Given the description of an element on the screen output the (x, y) to click on. 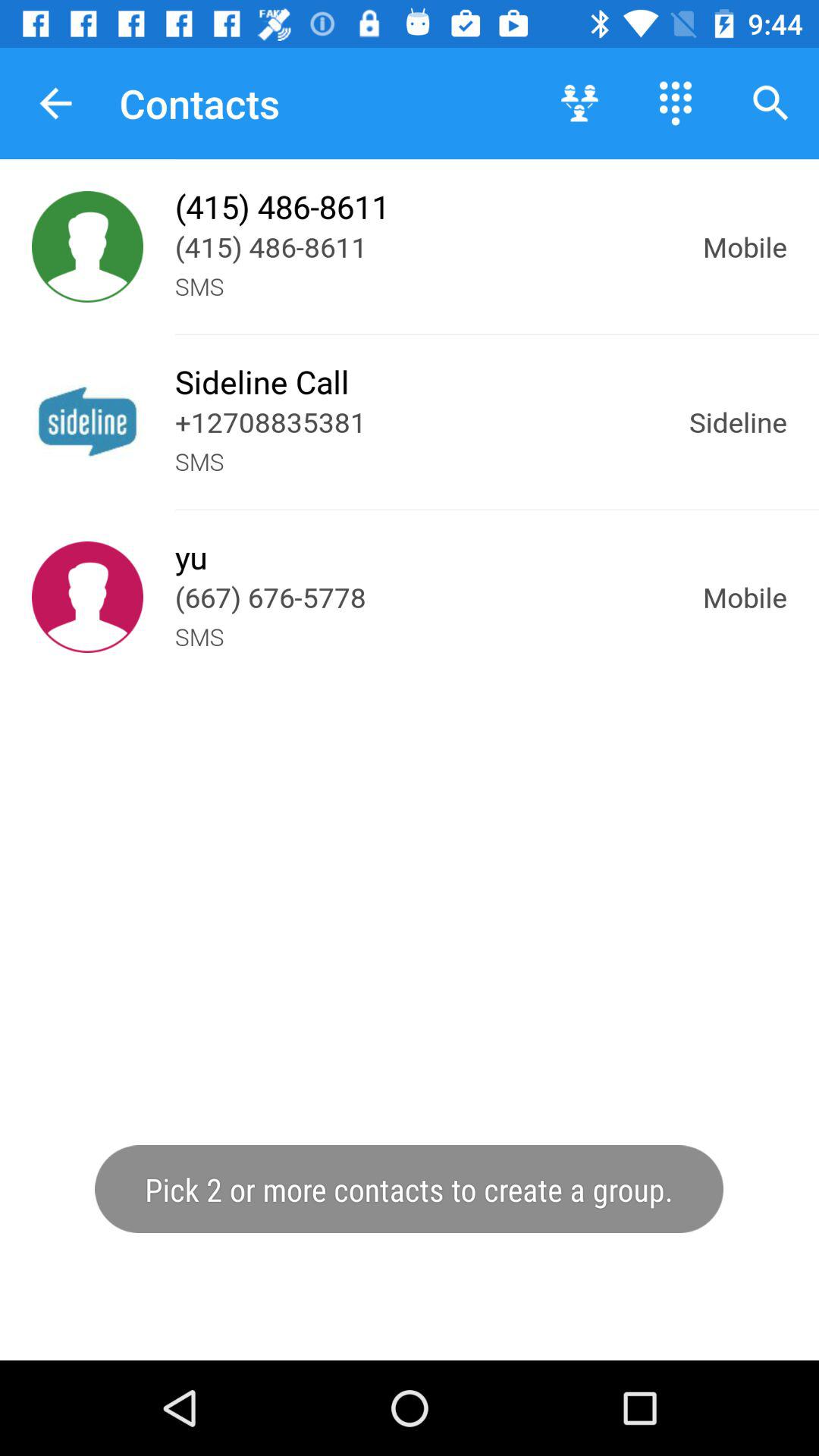
click the contact profile (87, 596)
